Given the description of an element on the screen output the (x, y) to click on. 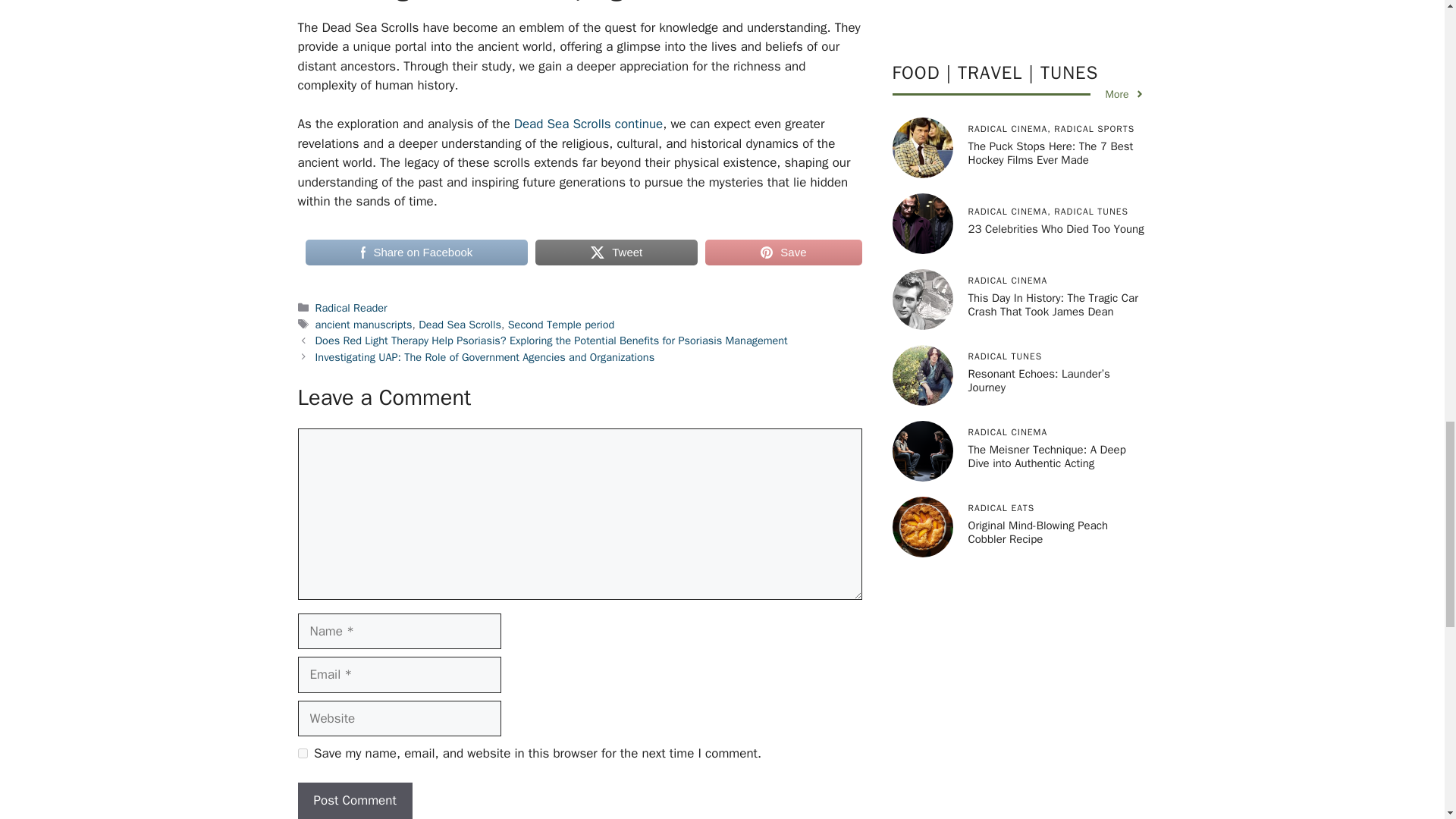
Share on Facebook (415, 252)
Save (782, 252)
Post Comment (354, 800)
ancient manuscripts (363, 324)
Dead Sea Scrolls continue (588, 123)
Tweet (616, 252)
Dead Sea Scrolls (459, 324)
yes (302, 753)
Second Temple period (561, 324)
Radical Reader (351, 307)
